Given the description of an element on the screen output the (x, y) to click on. 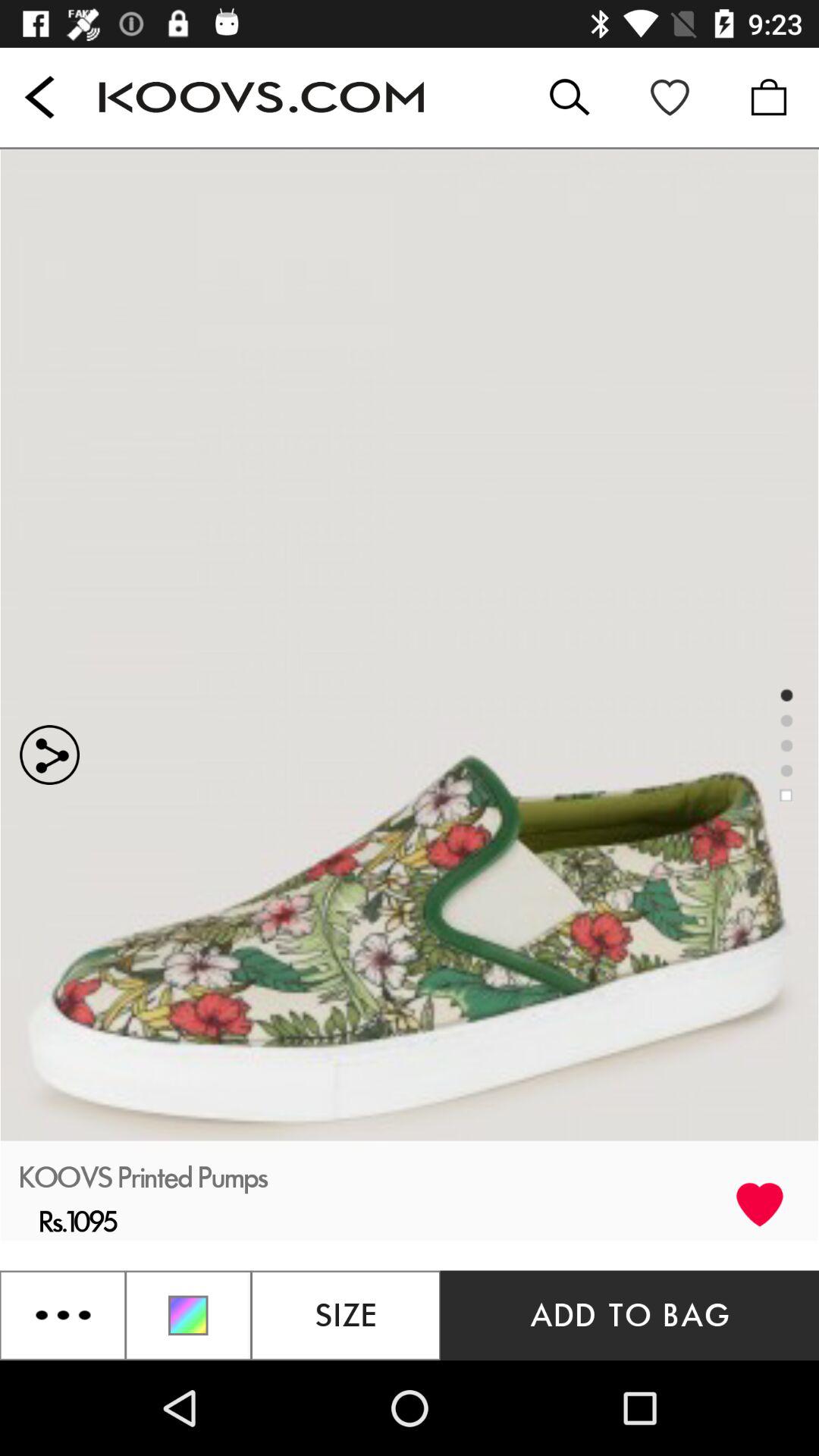
click the share button on the web page (204, 642)
click on the button at the right side bottom of the page (629, 1315)
